Given the description of an element on the screen output the (x, y) to click on. 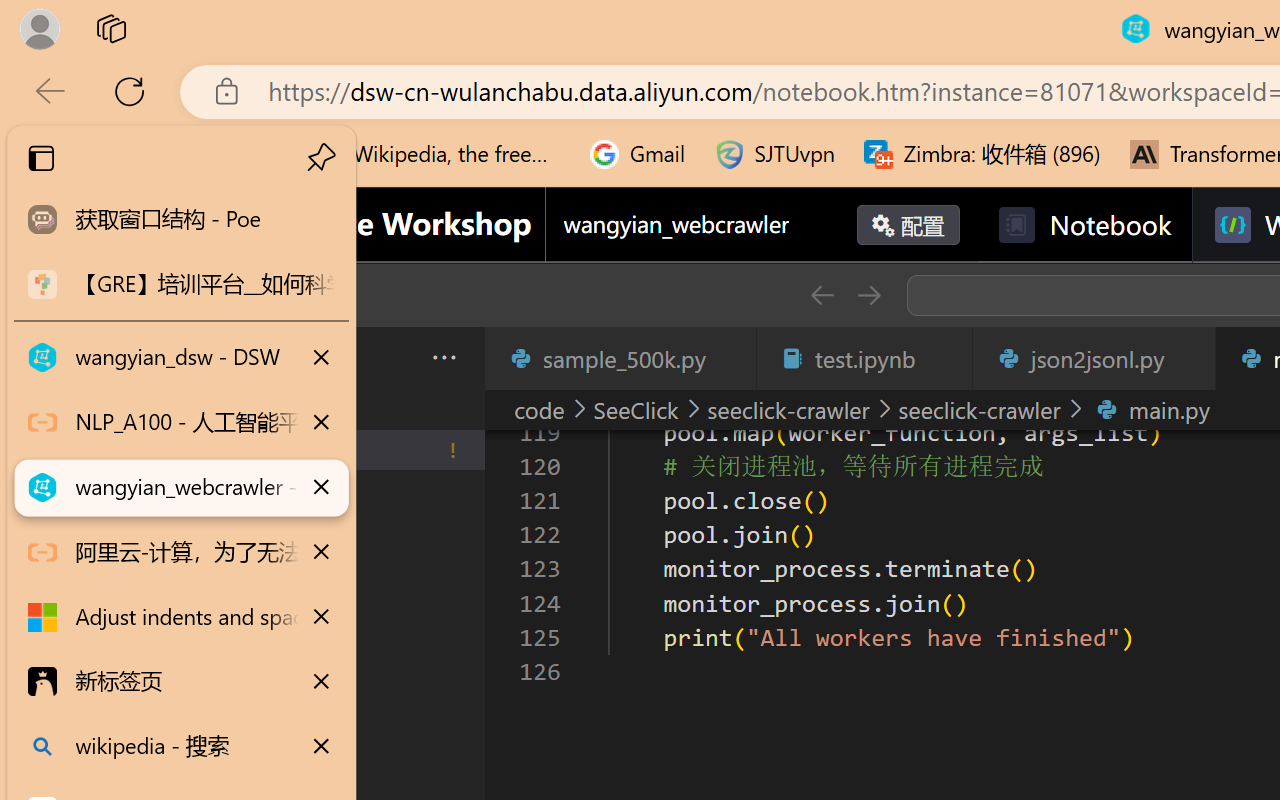
Adjust indents and spacing - Microsoft Support (181, 617)
Run and Debug (Ctrl+Shift+D) (135, 692)
SJTUvpn (774, 154)
Close (Ctrl+F4) (1188, 358)
Explorer Section: wangyian (331, 409)
Application Menu (135, 358)
Source Control (Ctrl+Shift+G) (135, 604)
Gmail (637, 154)
Explorer (Ctrl+Shift+E) (135, 432)
